Given the description of an element on the screen output the (x, y) to click on. 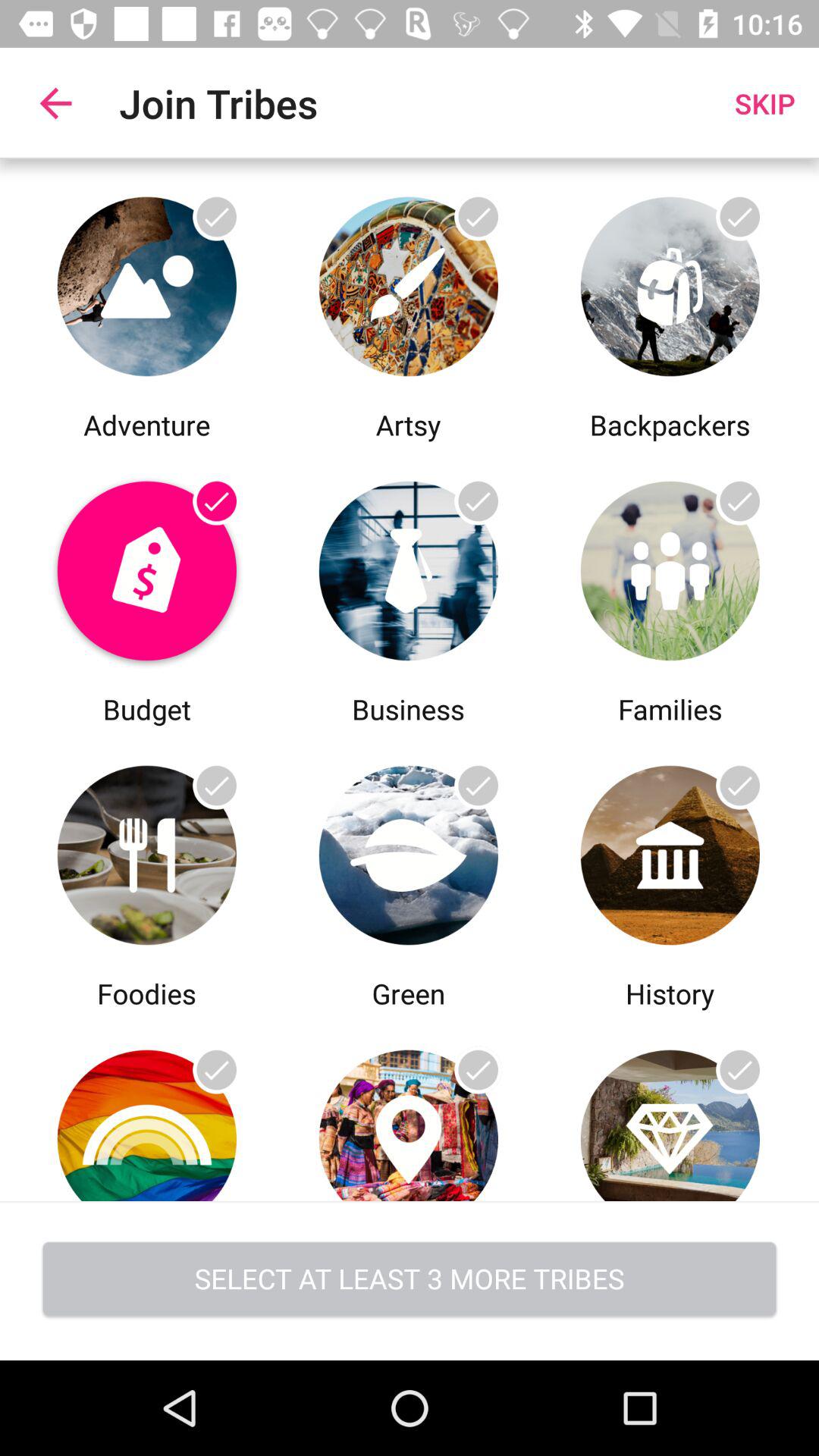
join budget tribe (146, 566)
